Given the description of an element on the screen output the (x, y) to click on. 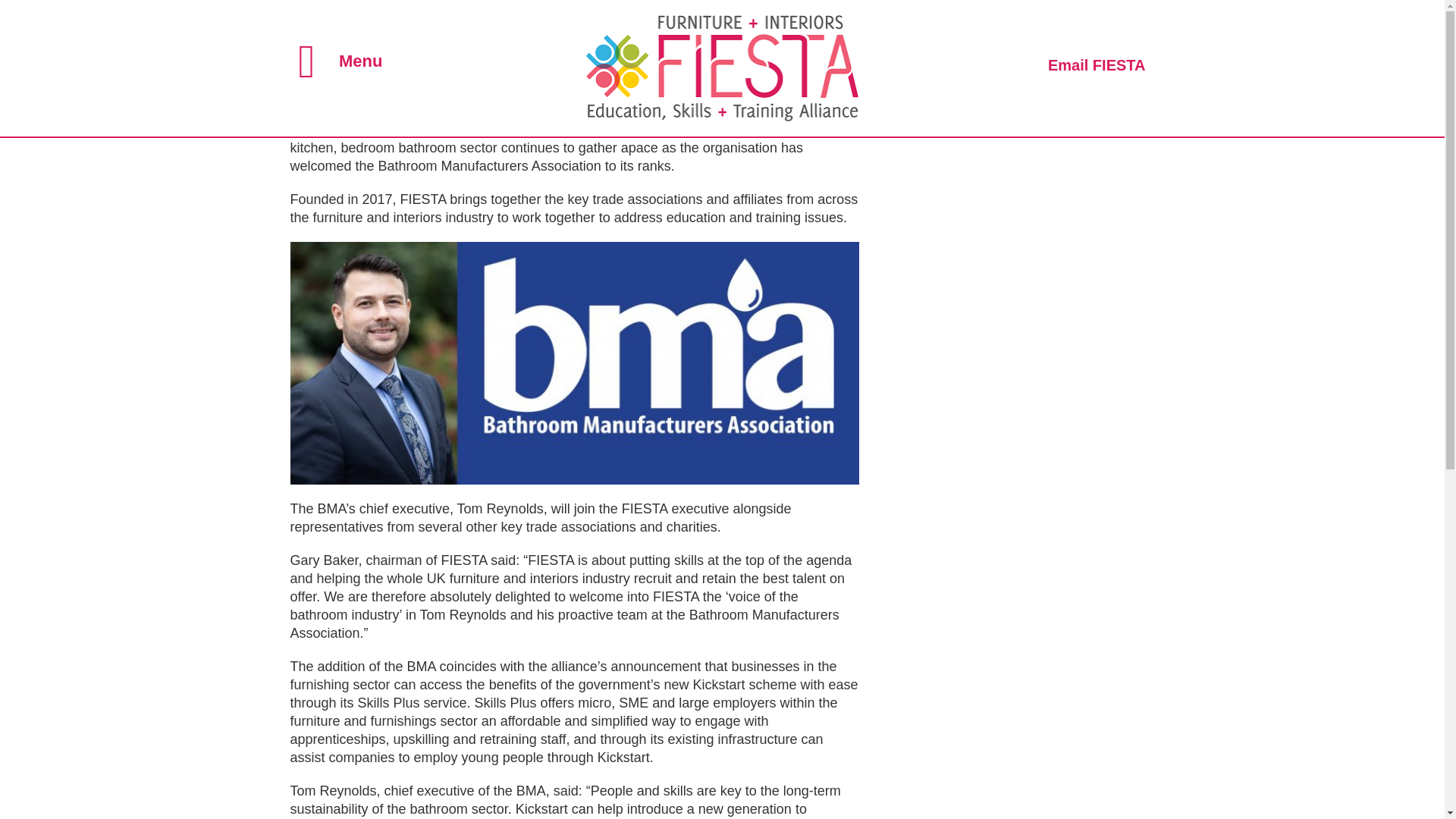
George Cooper (425, 108)
October 12, 2020 (330, 108)
Email FIESTA (1096, 64)
